Given the description of an element on the screen output the (x, y) to click on. 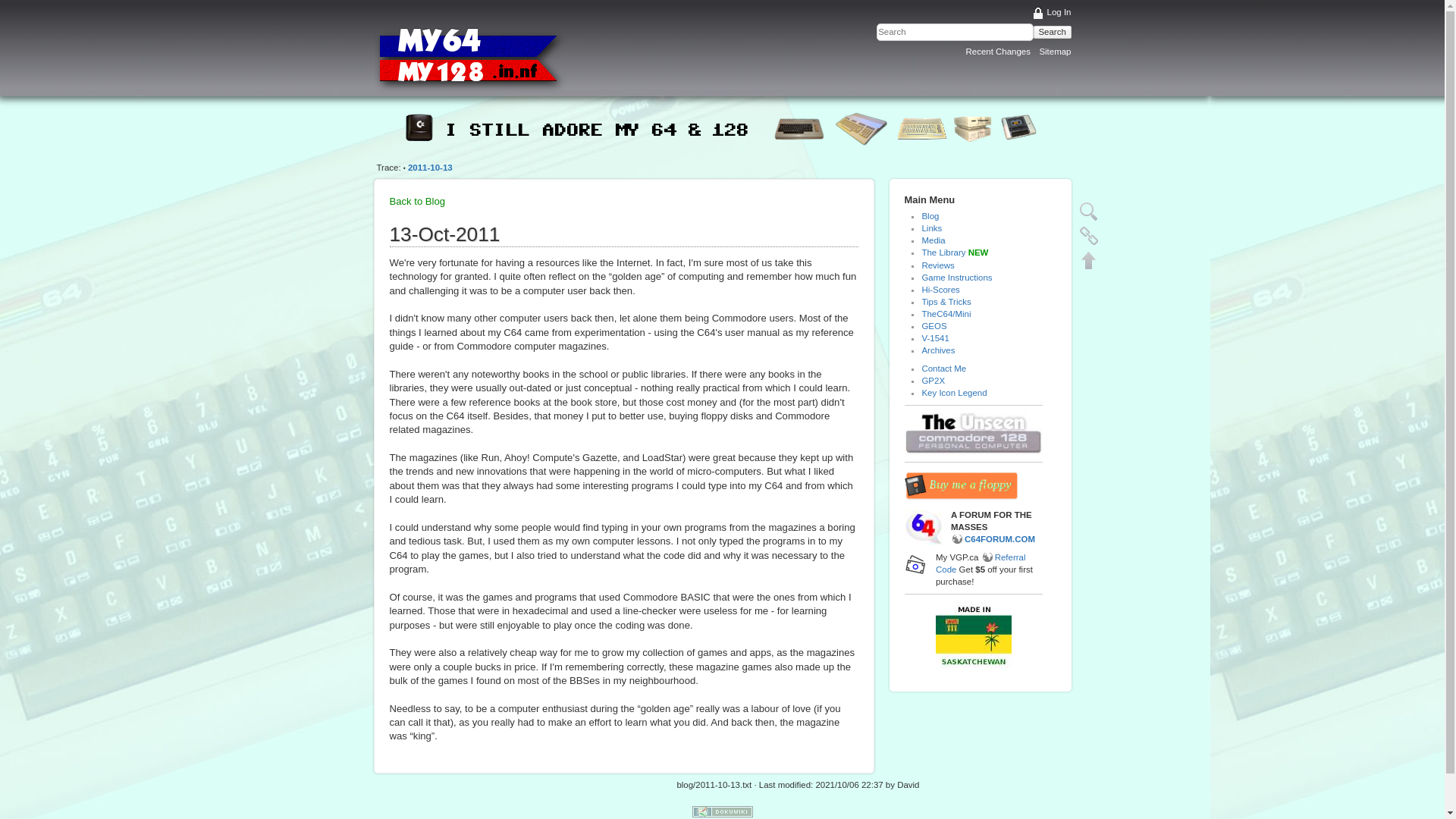
Archives (938, 349)
blog:2011-10-13 (429, 166)
Media (932, 239)
The Library (943, 252)
blog (930, 215)
Referral Code (981, 563)
Back to Blog (417, 201)
Hi-Scores (940, 289)
GEOS (933, 325)
Search (1052, 31)
